Given the description of an element on the screen output the (x, y) to click on. 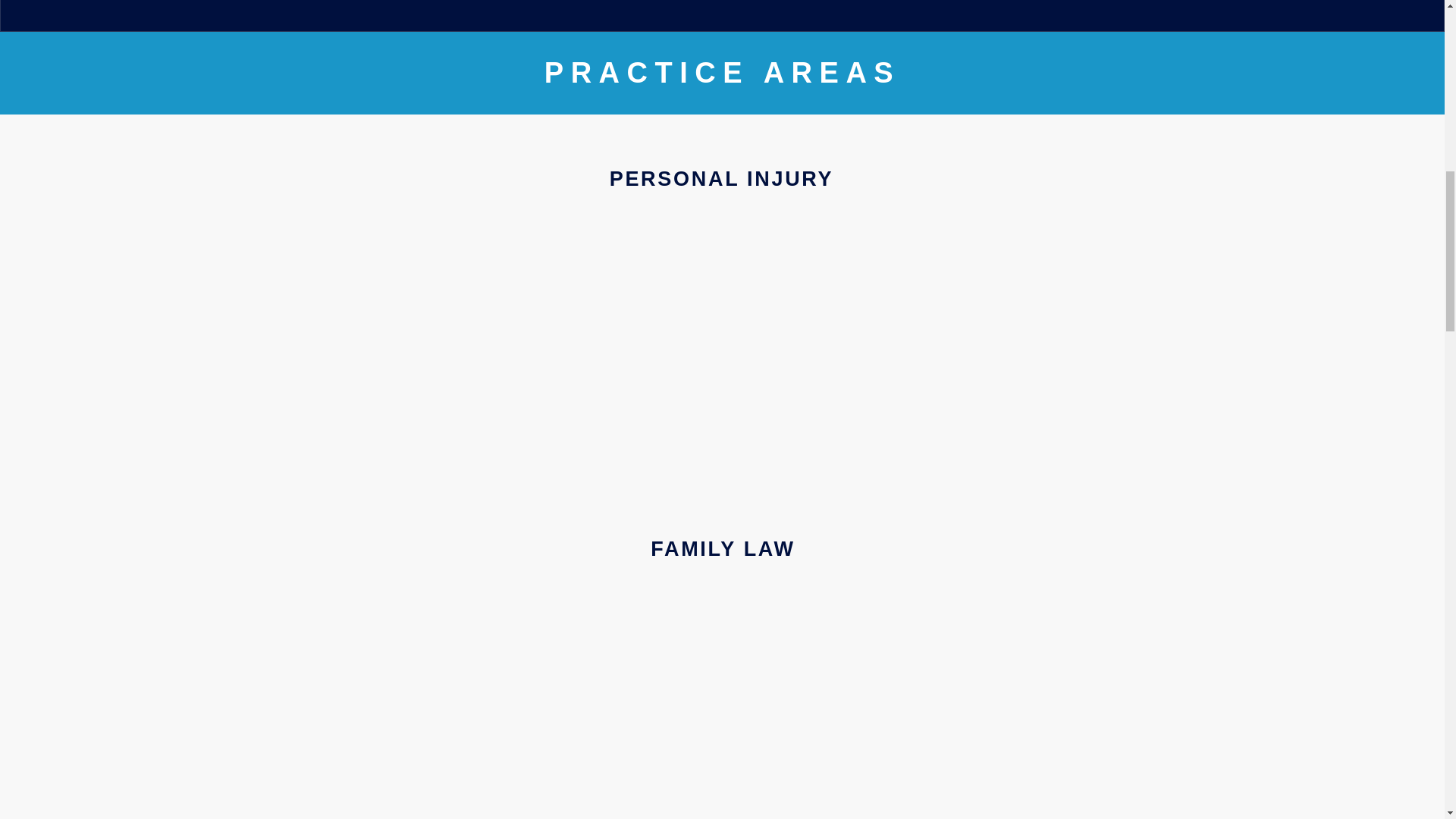
PERSONAL INJURY (722, 178)
FAMILY LAW (722, 548)
